Given the description of an element on the screen output the (x, y) to click on. 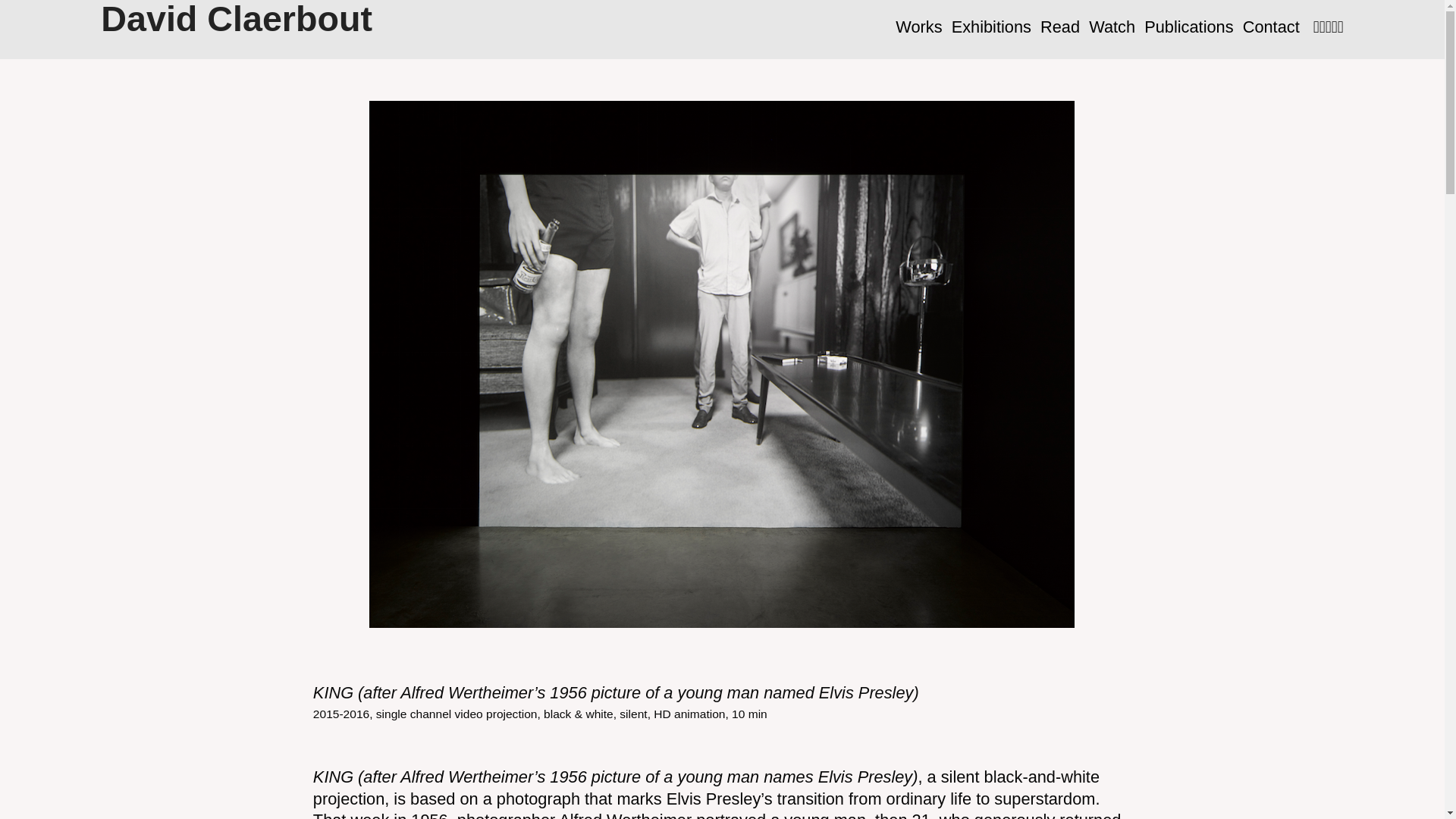
Watch (1112, 27)
David Claerbout (236, 21)
Read (1060, 27)
Exhibitions (991, 27)
Publications (1188, 27)
Contact (1271, 27)
Works (918, 27)
